Given the description of an element on the screen output the (x, y) to click on. 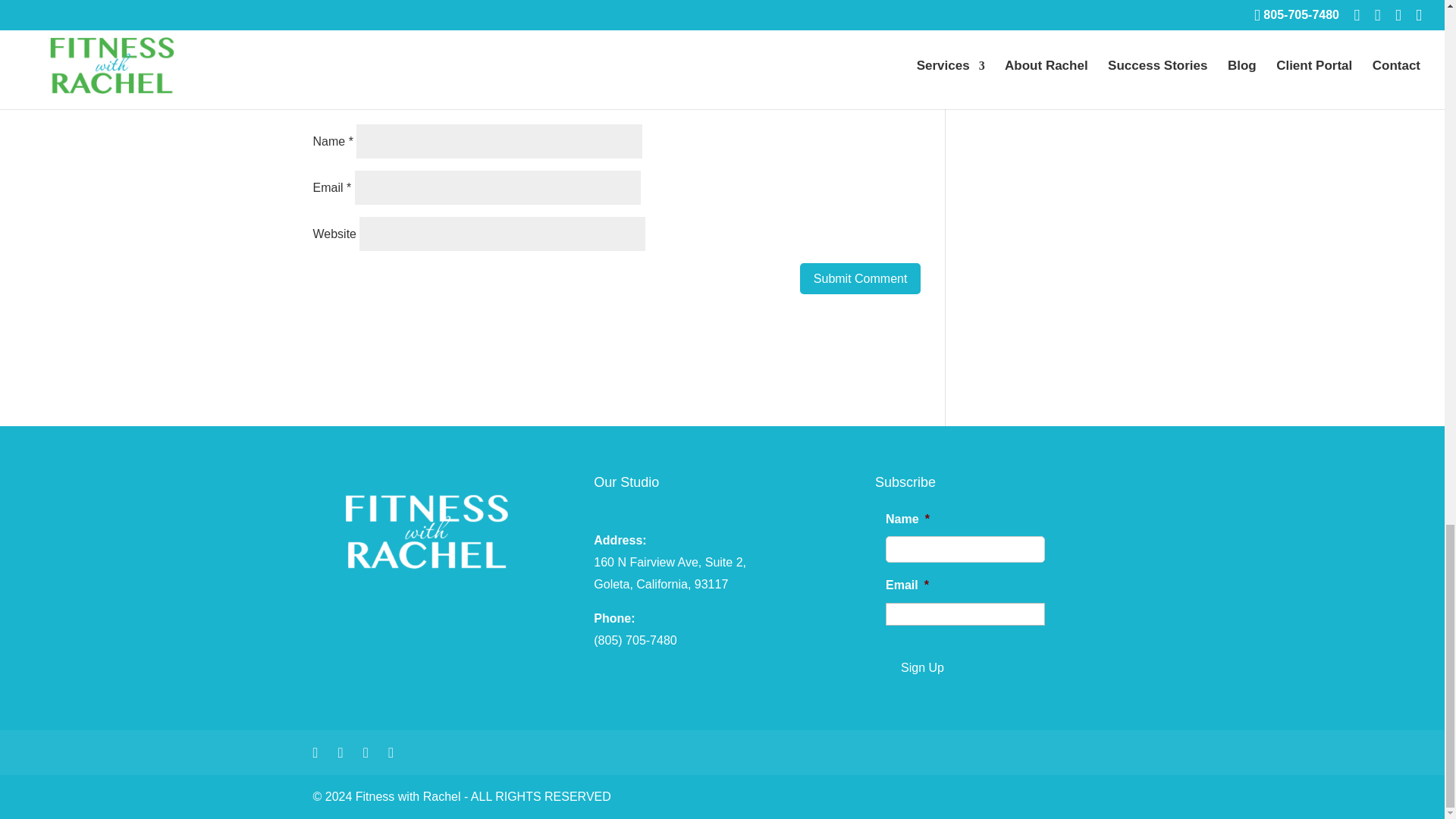
Sign Up (922, 667)
Submit Comment (860, 278)
Sign Up (922, 667)
Submit Comment (860, 278)
